Given the description of an element on the screen output the (x, y) to click on. 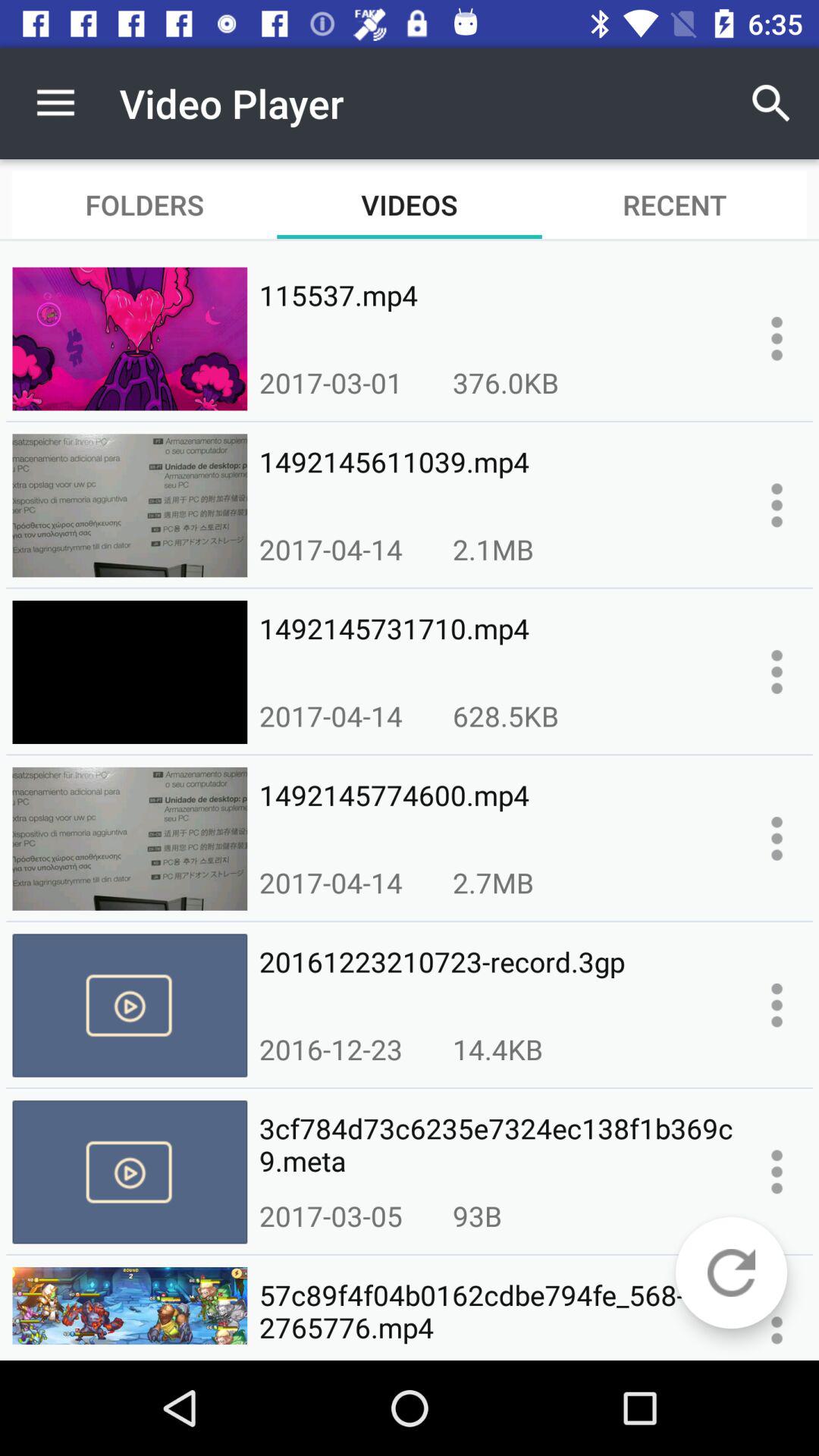
turn on icon below 2017-03-05 (496, 1311)
